Given the description of an element on the screen output the (x, y) to click on. 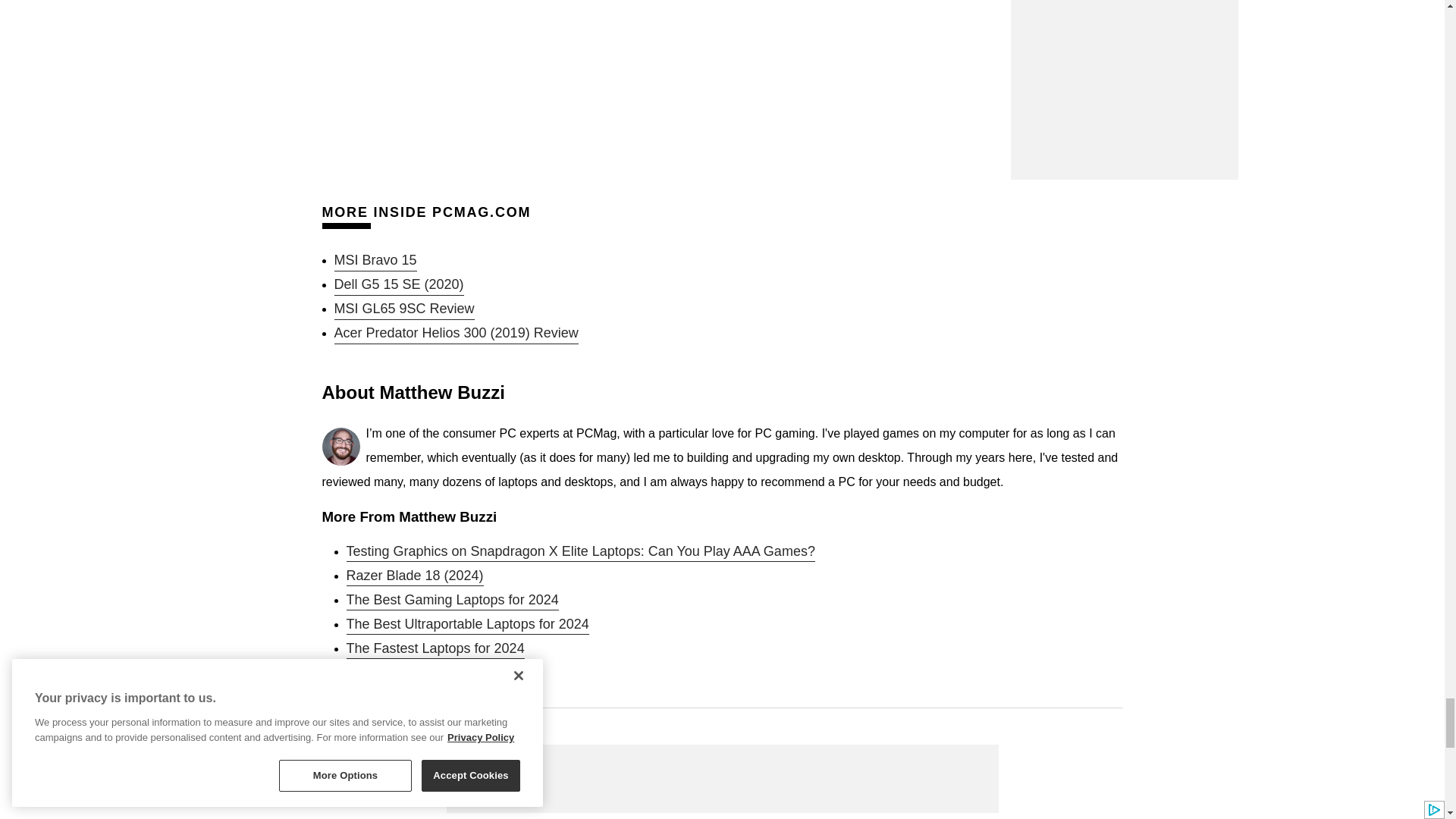
3rd party ad content (721, 778)
